Given the description of an element on the screen output the (x, y) to click on. 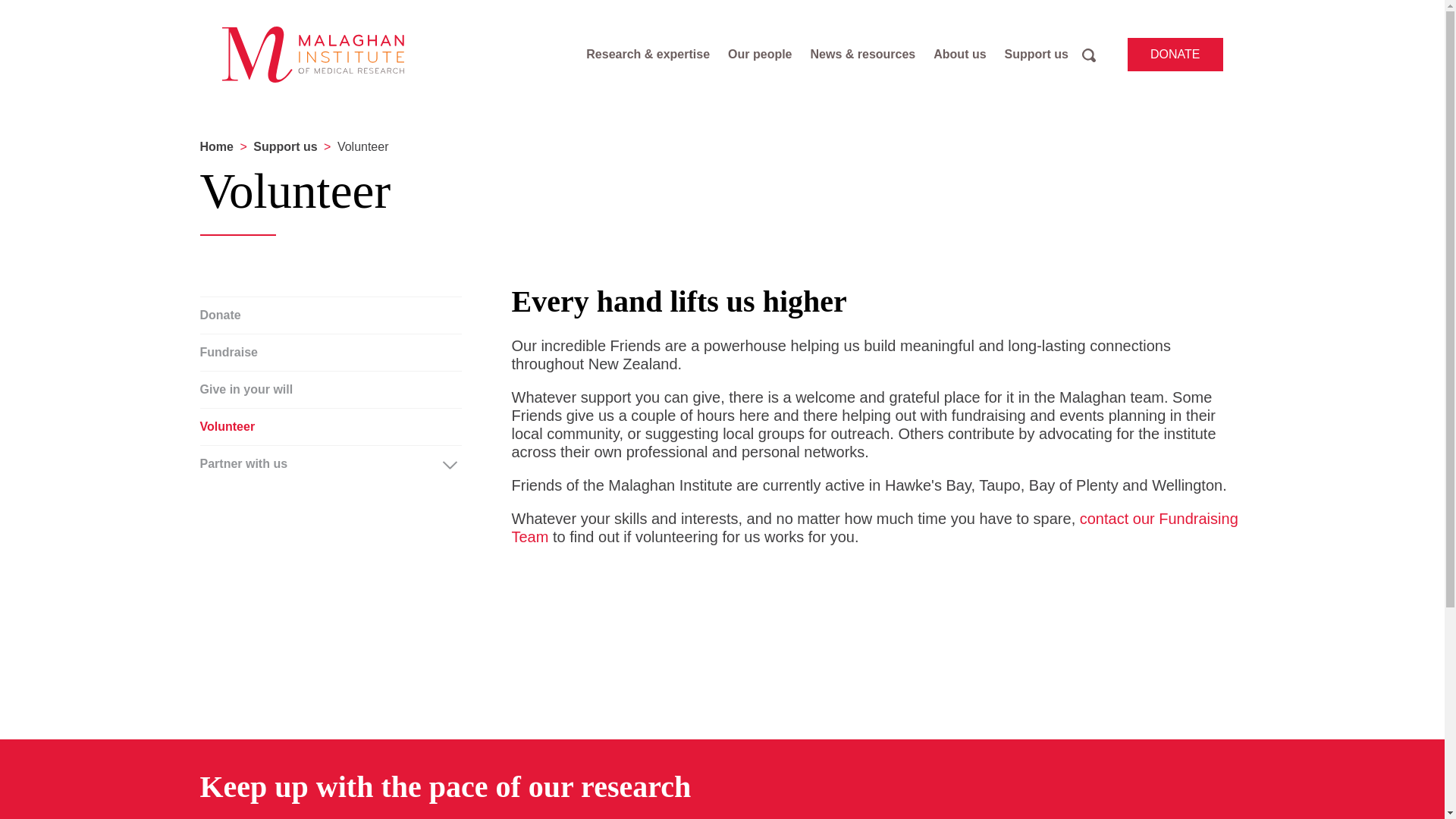
Our people (760, 54)
